Given the description of an element on the screen output the (x, y) to click on. 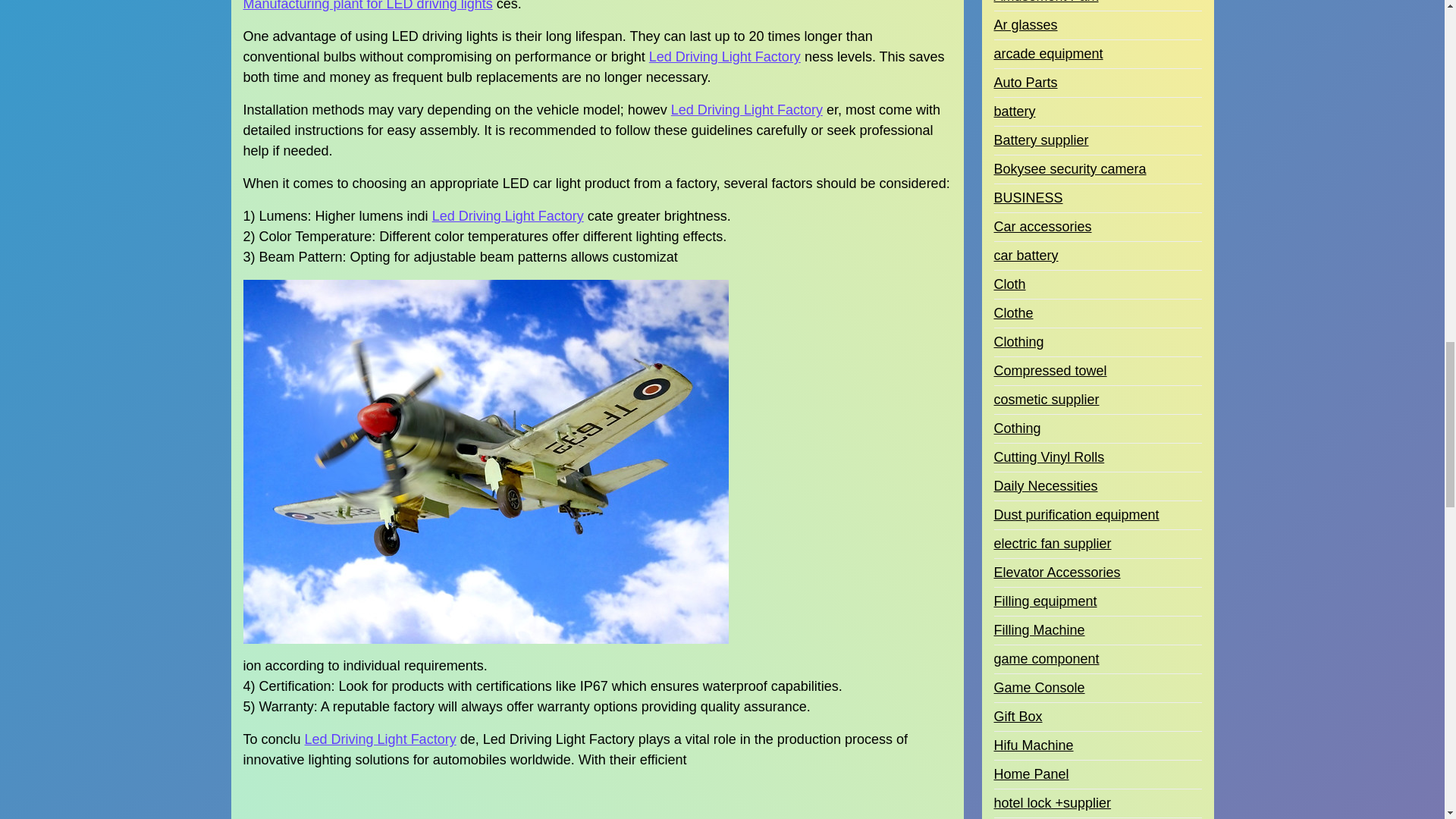
Led Driving Light Factory (746, 109)
Led Driving Light Factory (724, 56)
Led Driving Light Factory (507, 216)
Manufacturing plant for LED driving lights (367, 7)
Led Driving Light Factory (380, 739)
